Given the description of an element on the screen output the (x, y) to click on. 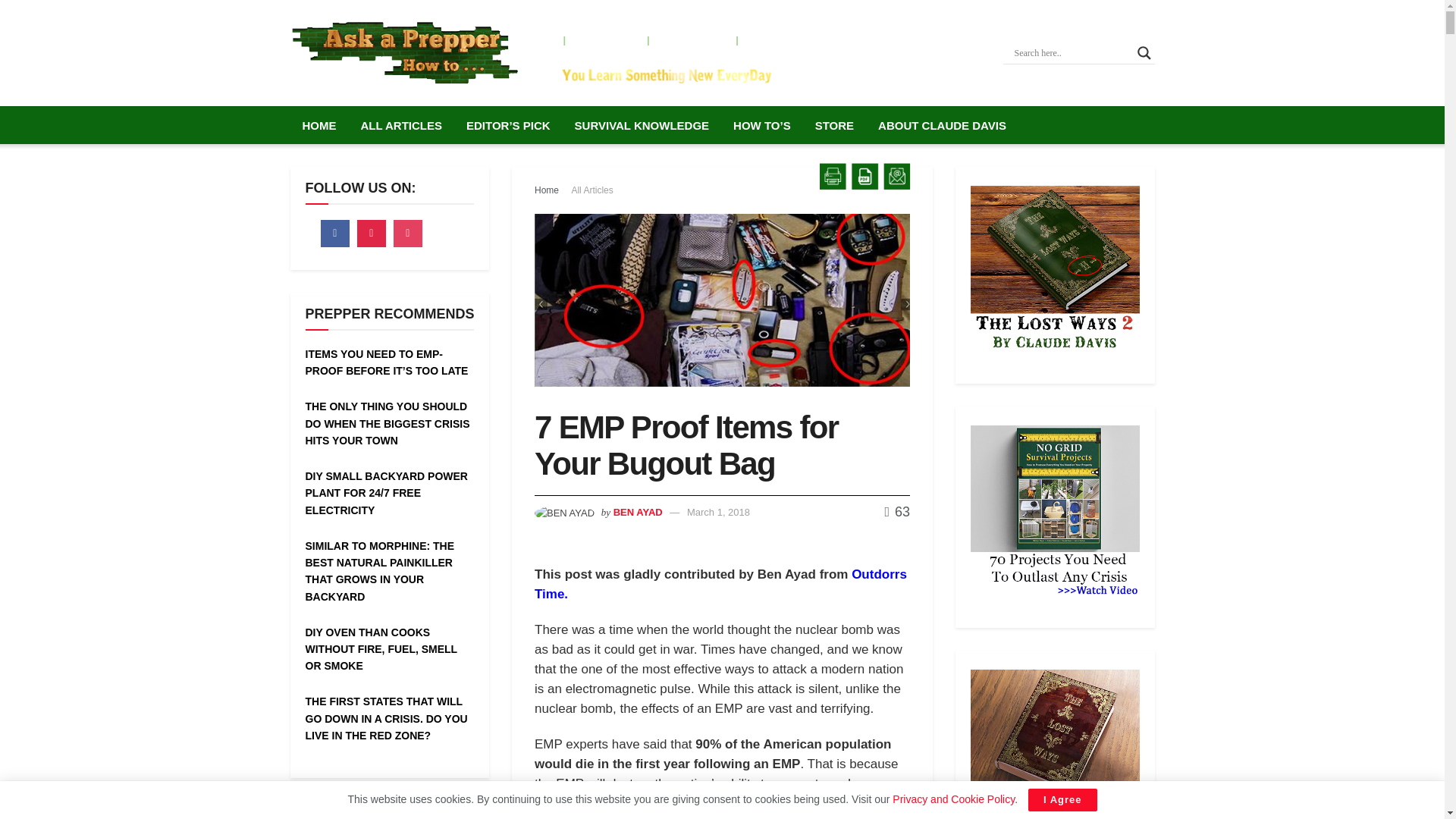
March 1, 2018 (718, 511)
Home (546, 190)
SURVIVAL KNOWLEDGE (642, 125)
STORE (834, 125)
Outdorrs Time. (720, 584)
All Articles (591, 190)
ALL ARTICLES (401, 125)
Contact (769, 39)
63 (896, 511)
ABOUT CLAUDE DAVIS (941, 125)
HOME (318, 125)
BEN AYAD (637, 511)
